Given the description of an element on the screen output the (x, y) to click on. 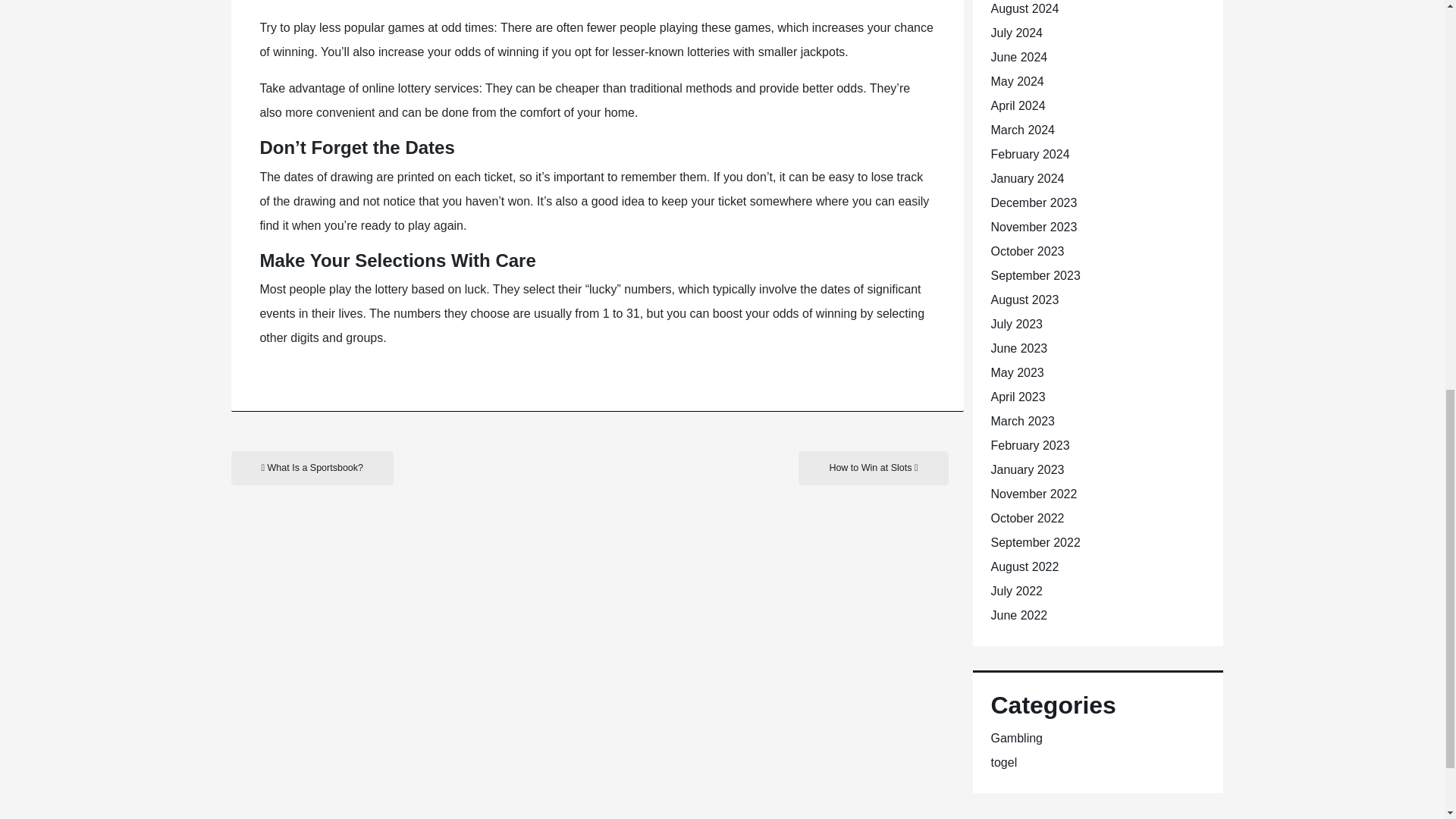
March 2024 (1022, 129)
January 2024 (1027, 178)
How to Win at Slots (872, 468)
September 2022 (1035, 542)
May 2024 (1016, 81)
November 2023 (1033, 226)
April 2023 (1017, 396)
July 2023 (1016, 323)
September 2023 (1035, 275)
April 2024 (1017, 105)
